Given the description of an element on the screen output the (x, y) to click on. 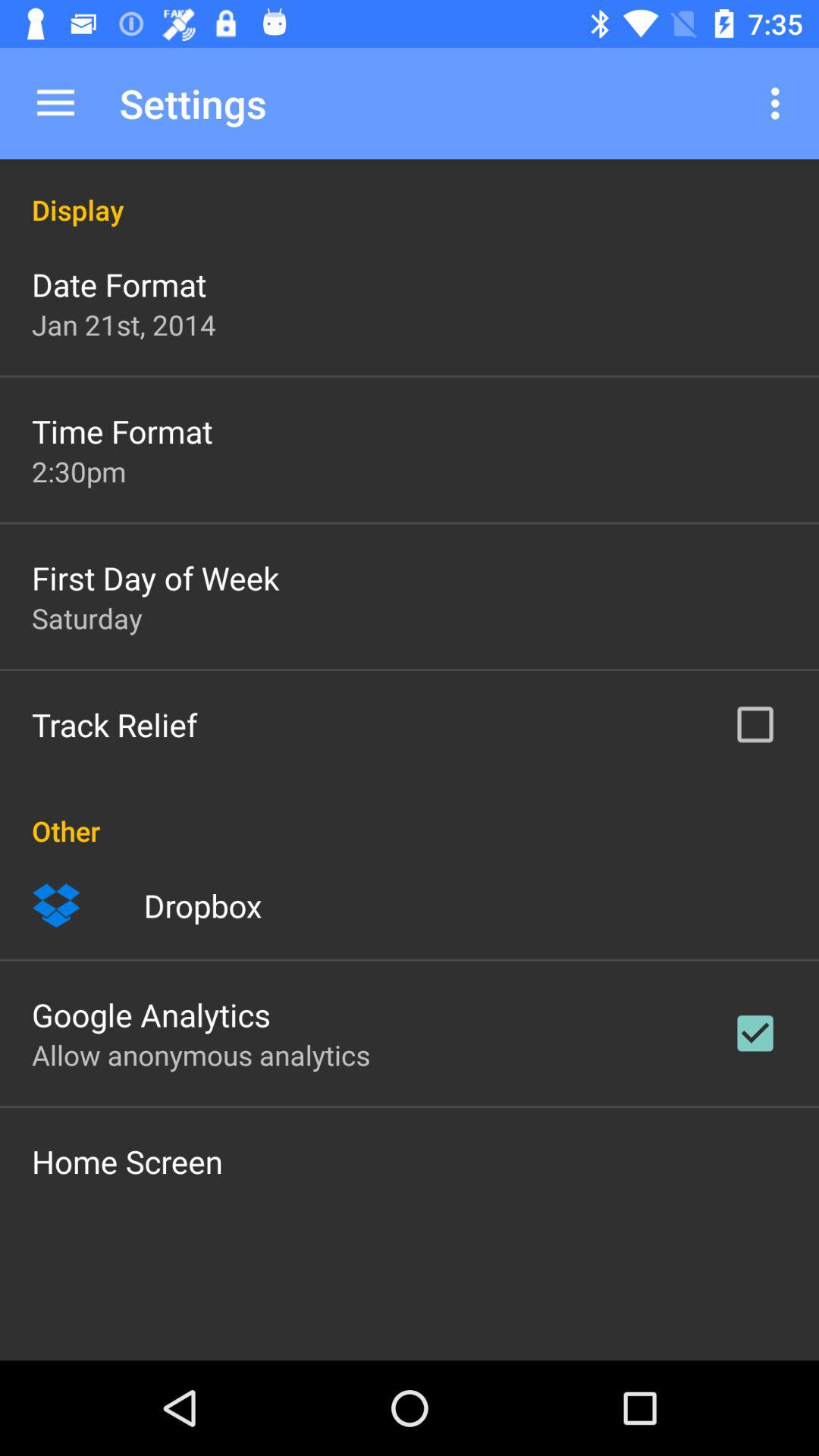
launch app below google analytics (200, 1054)
